Given the description of an element on the screen output the (x, y) to click on. 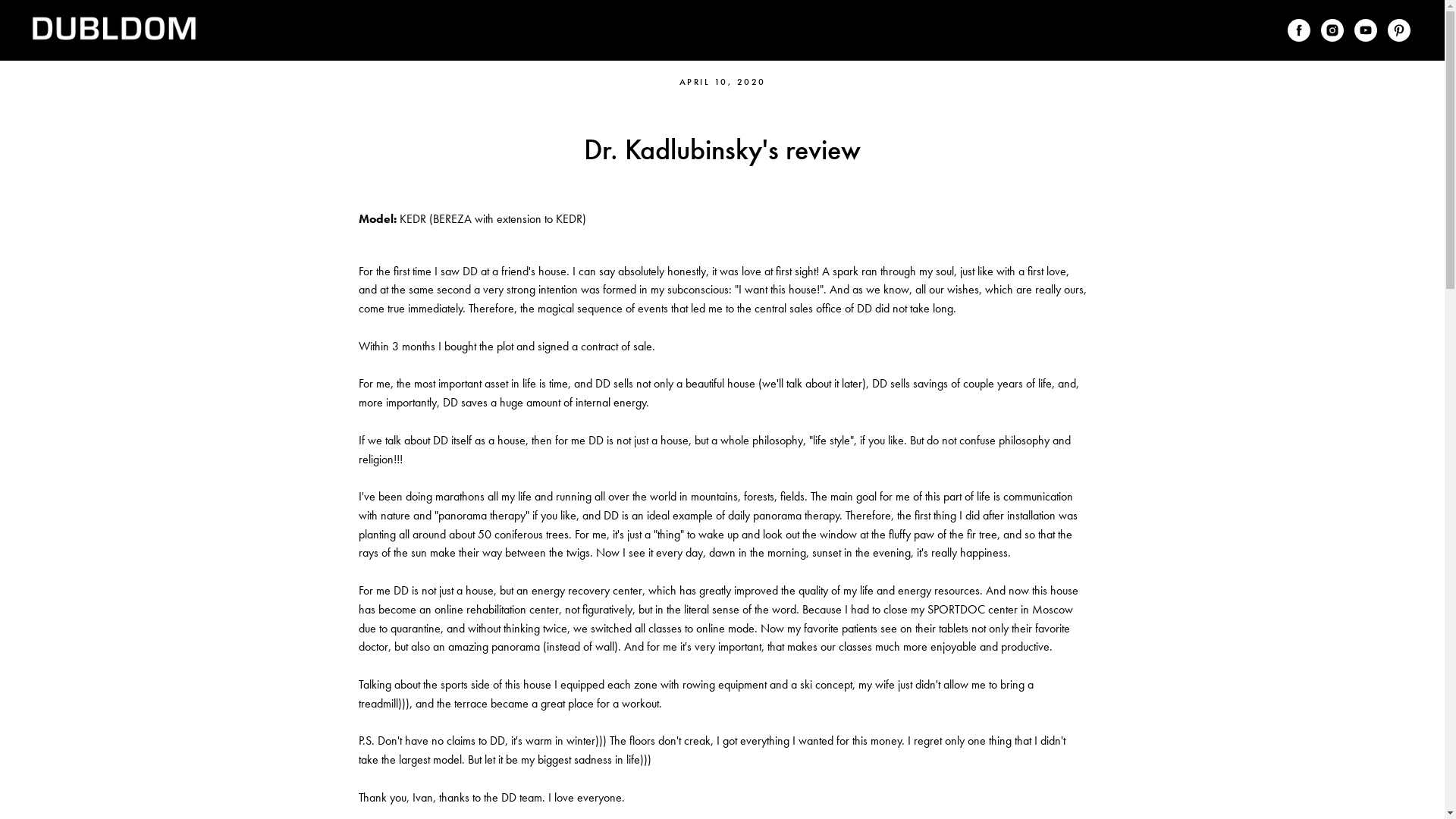
ABOUT US (542, 30)
GALLERY (744, 30)
CONTACTS (899, 30)
FRANCHISE (818, 30)
STORIES (679, 30)
MODELS (613, 30)
